Given the description of an element on the screen output the (x, y) to click on. 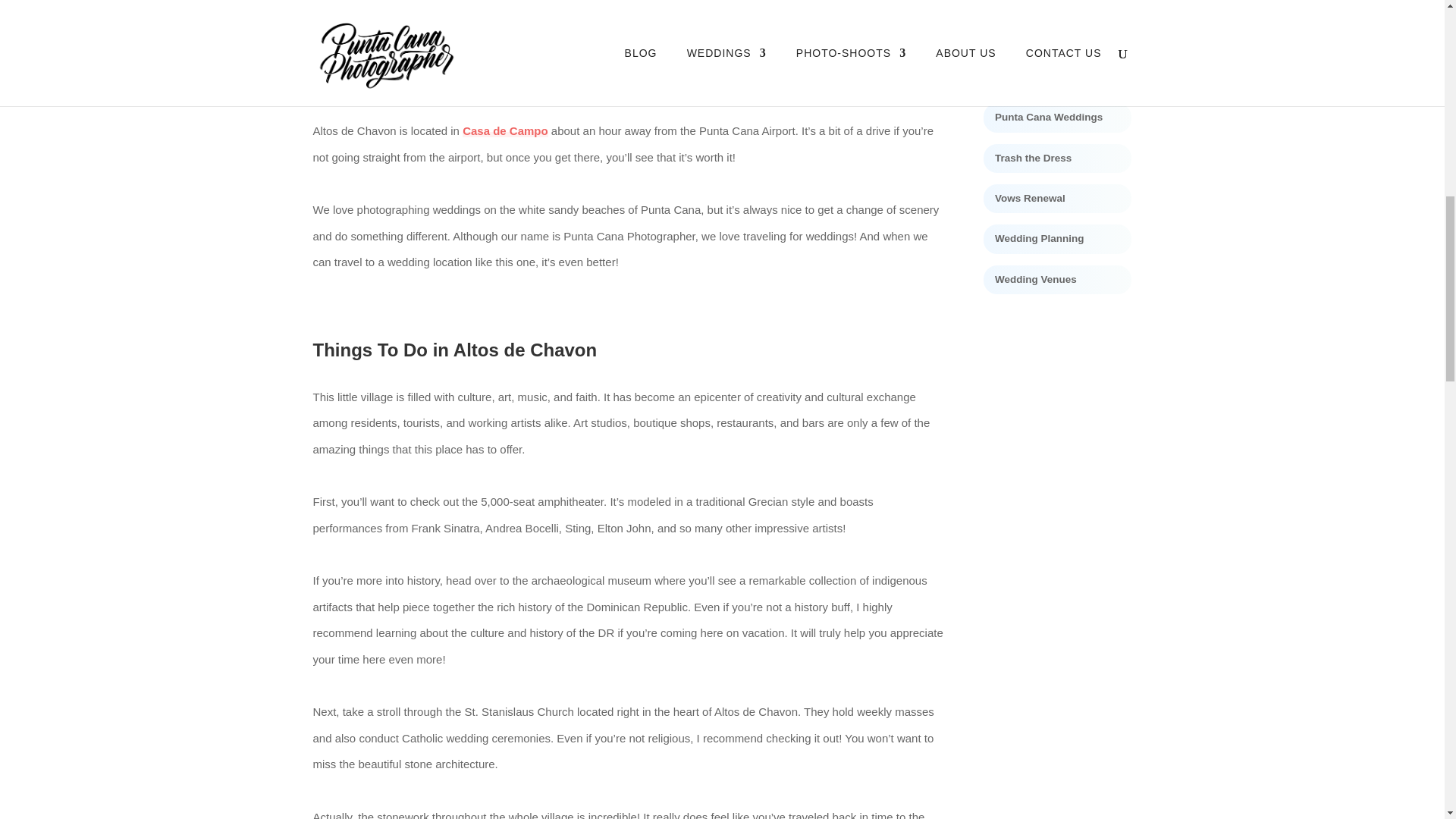
Casa de Campo (505, 130)
